Given the description of an element on the screen output the (x, y) to click on. 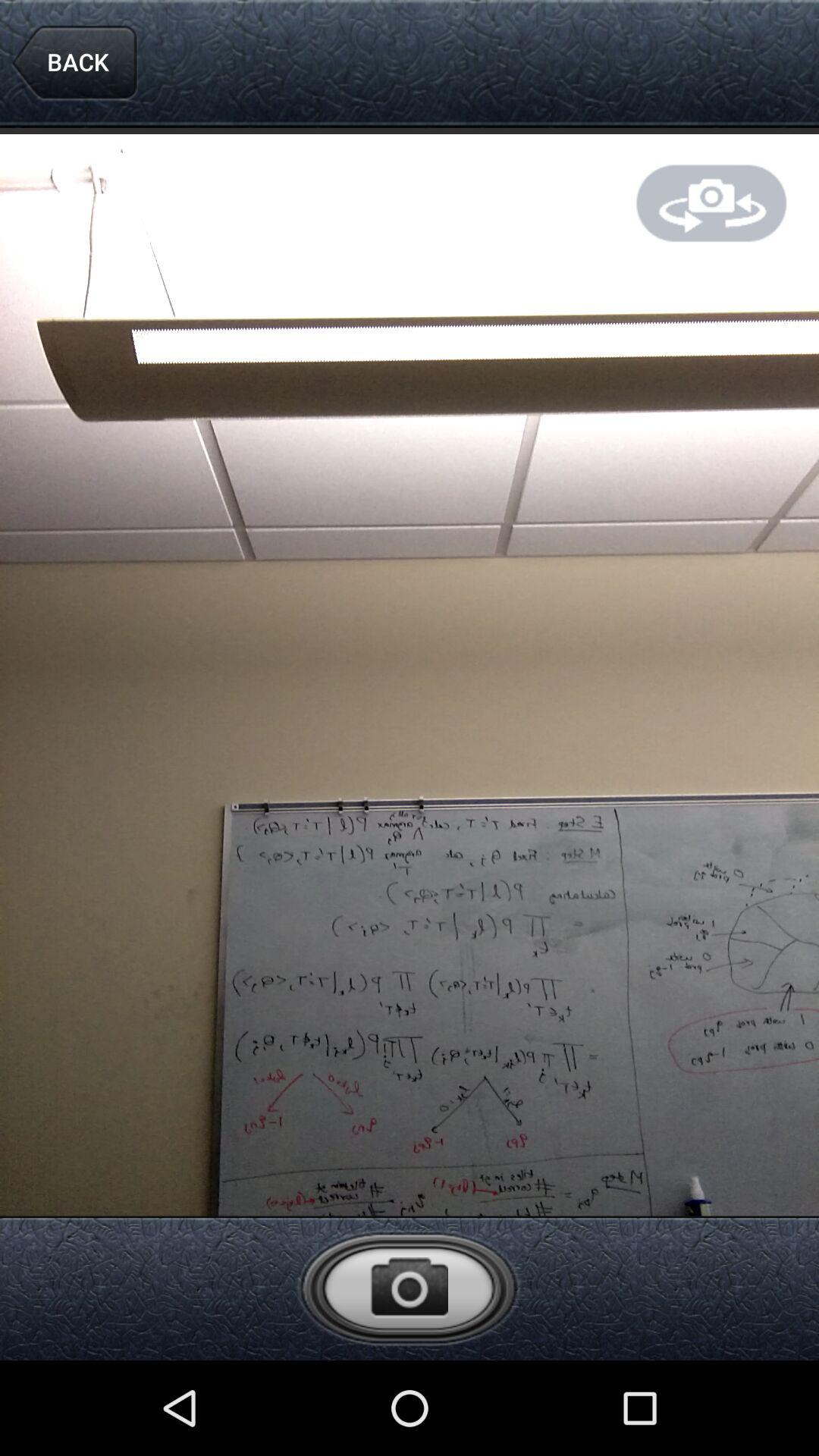
camera option (409, 1287)
